Given the description of an element on the screen output the (x, y) to click on. 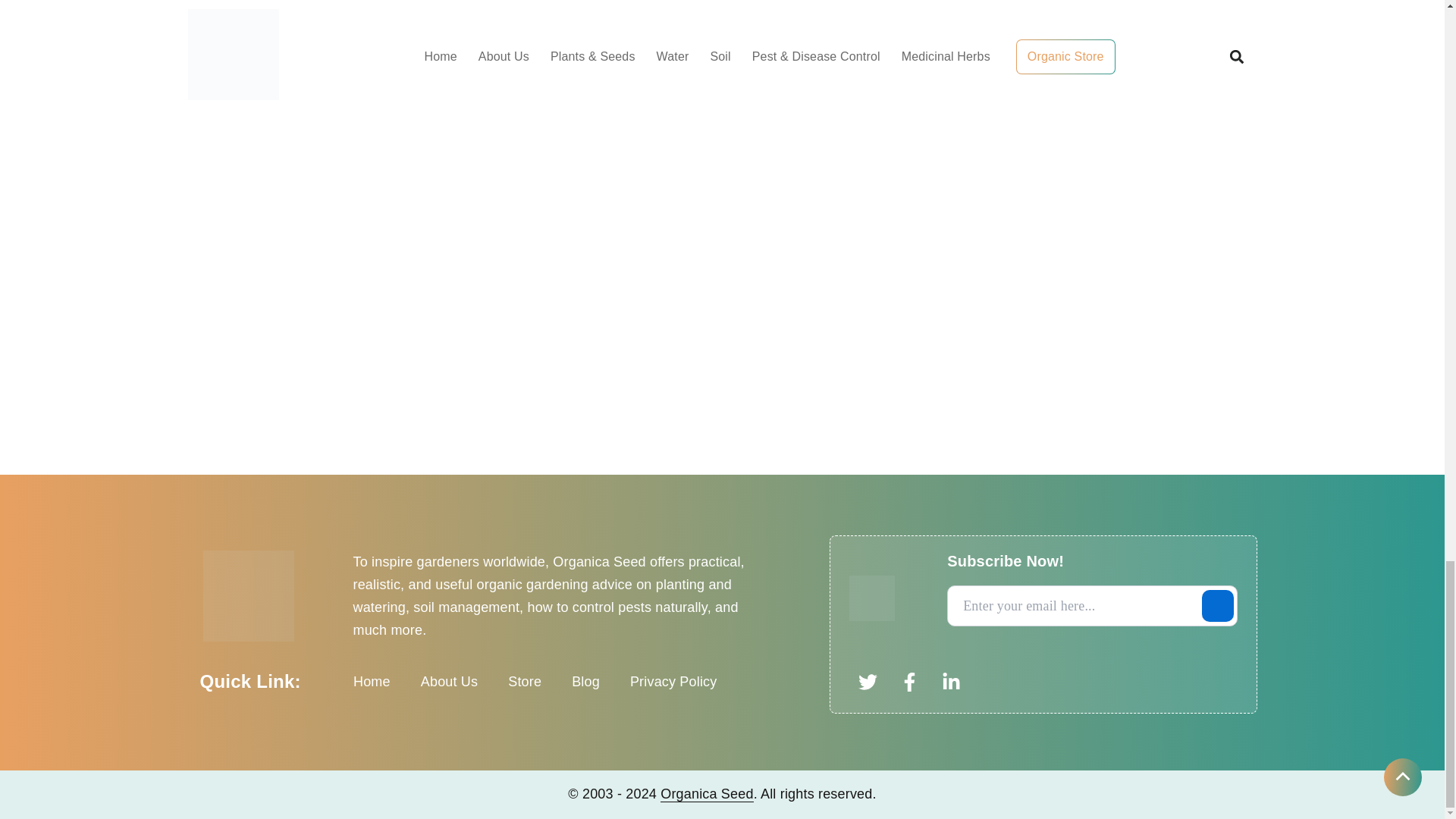
About Us (449, 681)
Privacy Policy (673, 681)
Subscribe (1217, 605)
Store (524, 681)
Blog (585, 681)
Home (371, 681)
